Given the description of an element on the screen output the (x, y) to click on. 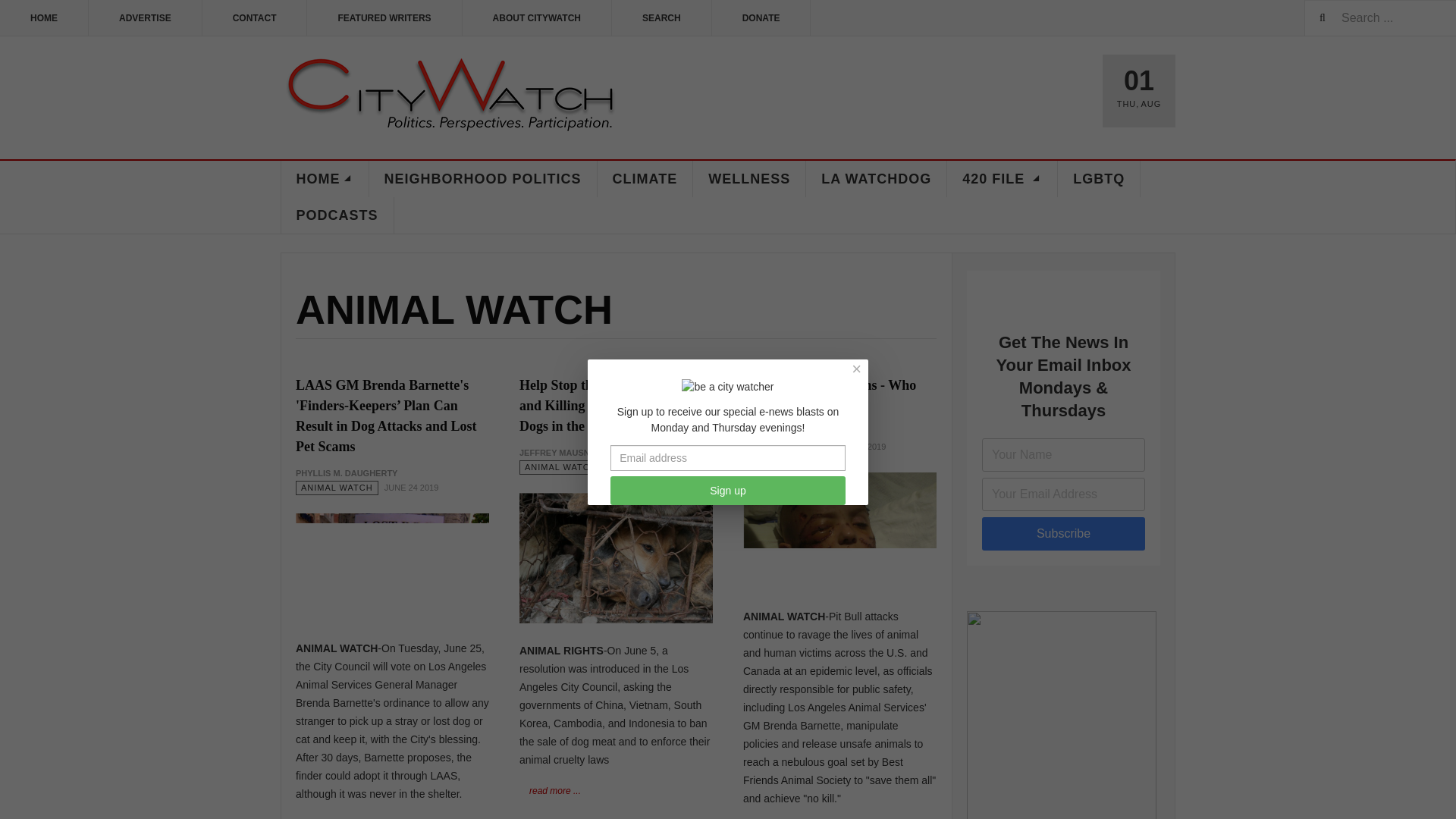
ABOUT CITYWATCH (537, 18)
Written by  (560, 452)
Written by  (793, 432)
Category:  (560, 467)
PODCASTS (337, 215)
Category:  (336, 487)
Category:  (783, 446)
HOME (324, 178)
NEIGHBORHOOD POLITICS (482, 178)
LA WATCHDOG (876, 178)
LGBTQ (1099, 178)
CONTACT (254, 18)
SEARCH (661, 18)
WELLNESS (749, 178)
